Given the description of an element on the screen output the (x, y) to click on. 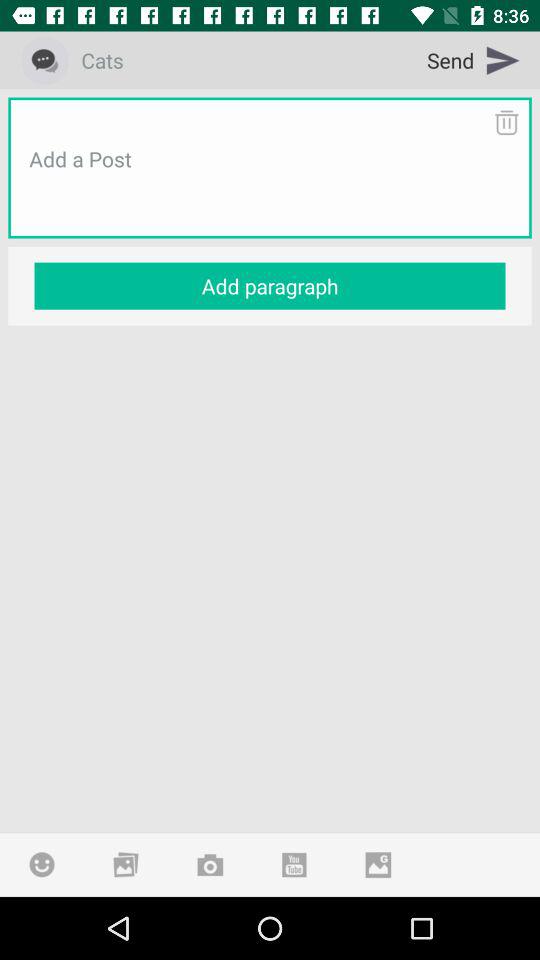
tap the icon above the add paragraph icon (269, 183)
